Given the description of an element on the screen output the (x, y) to click on. 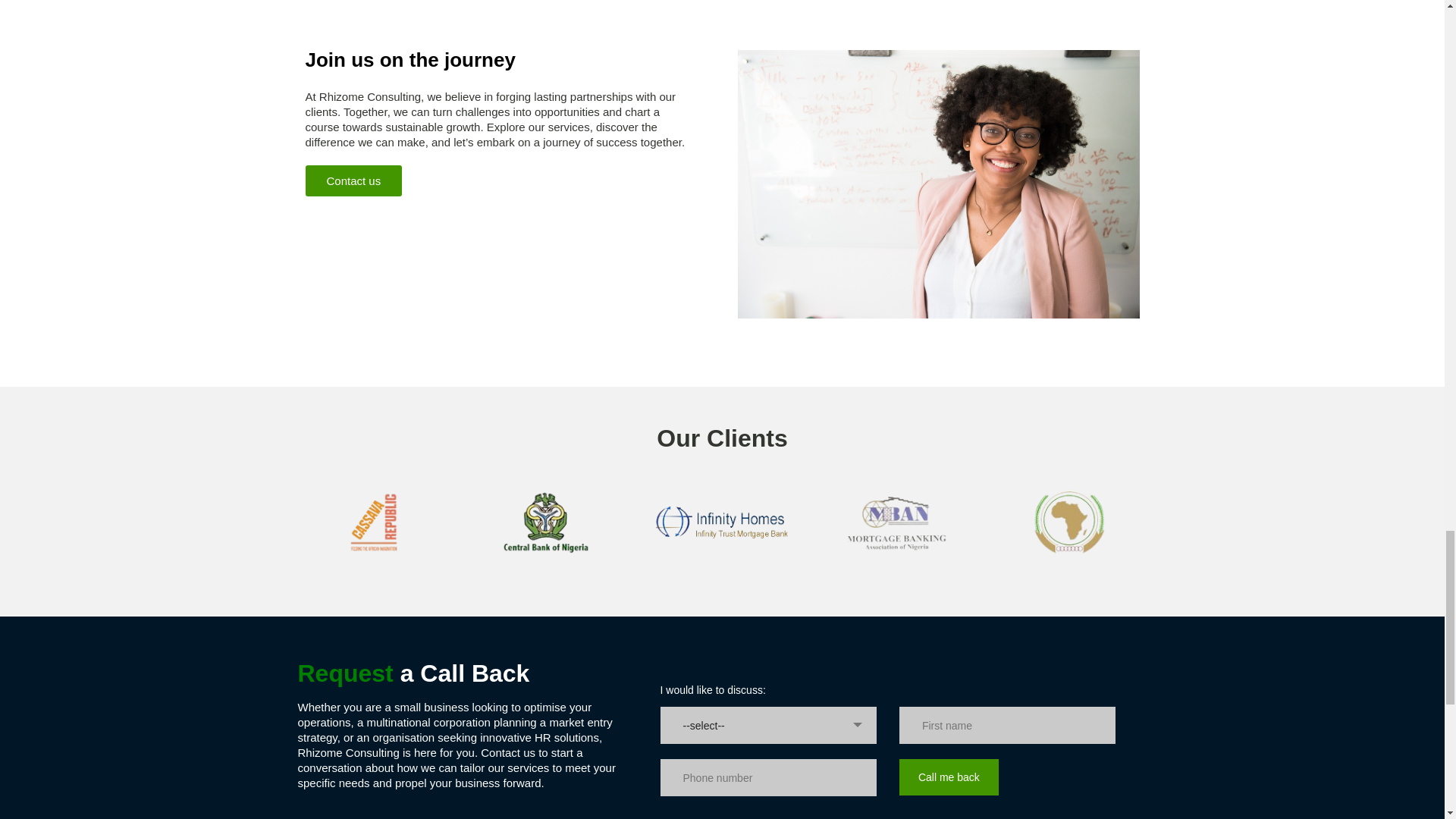
--select-- (768, 725)
